Given the description of an element on the screen output the (x, y) to click on. 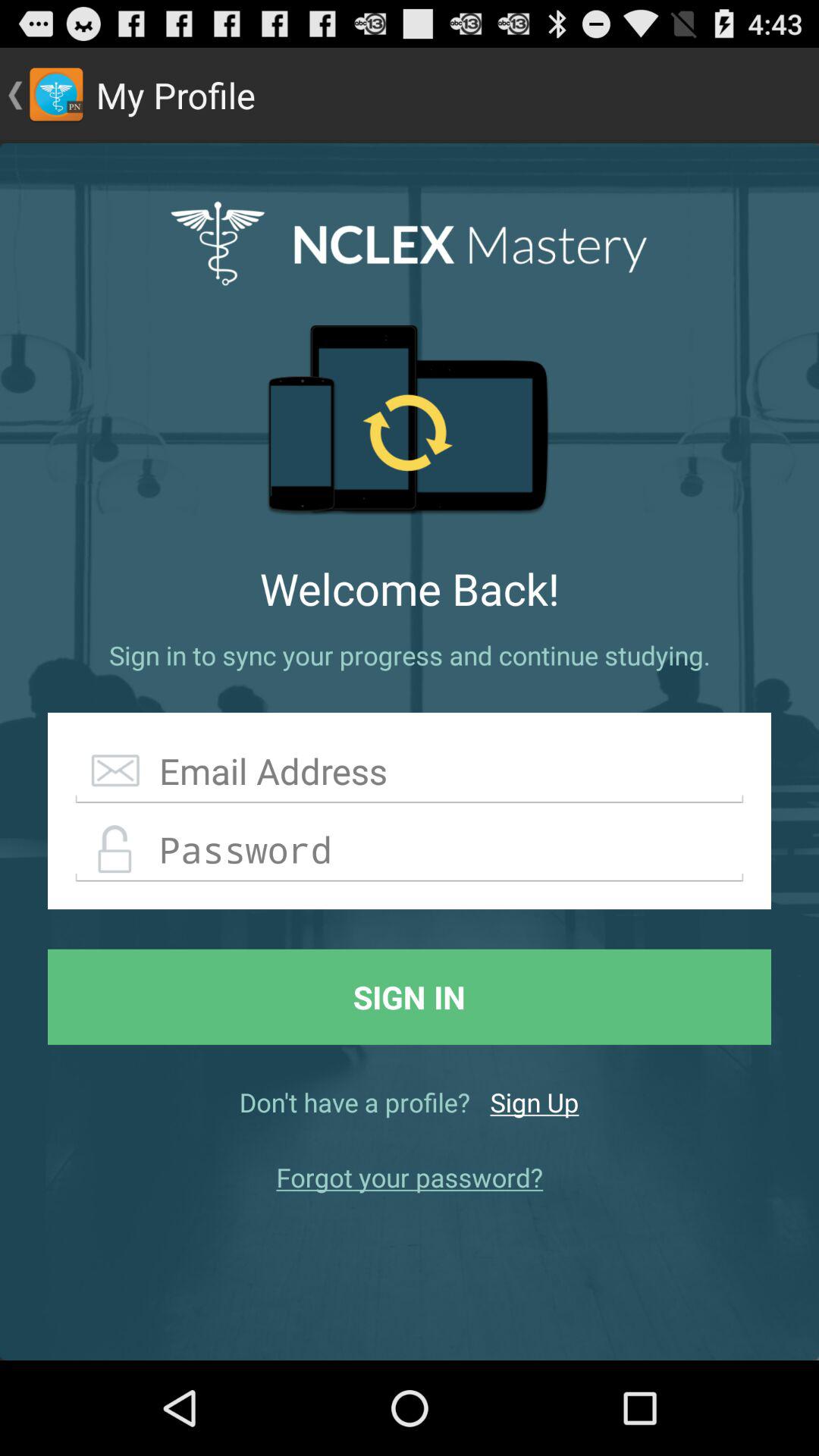
enter email address here (409, 771)
